Given the description of an element on the screen output the (x, y) to click on. 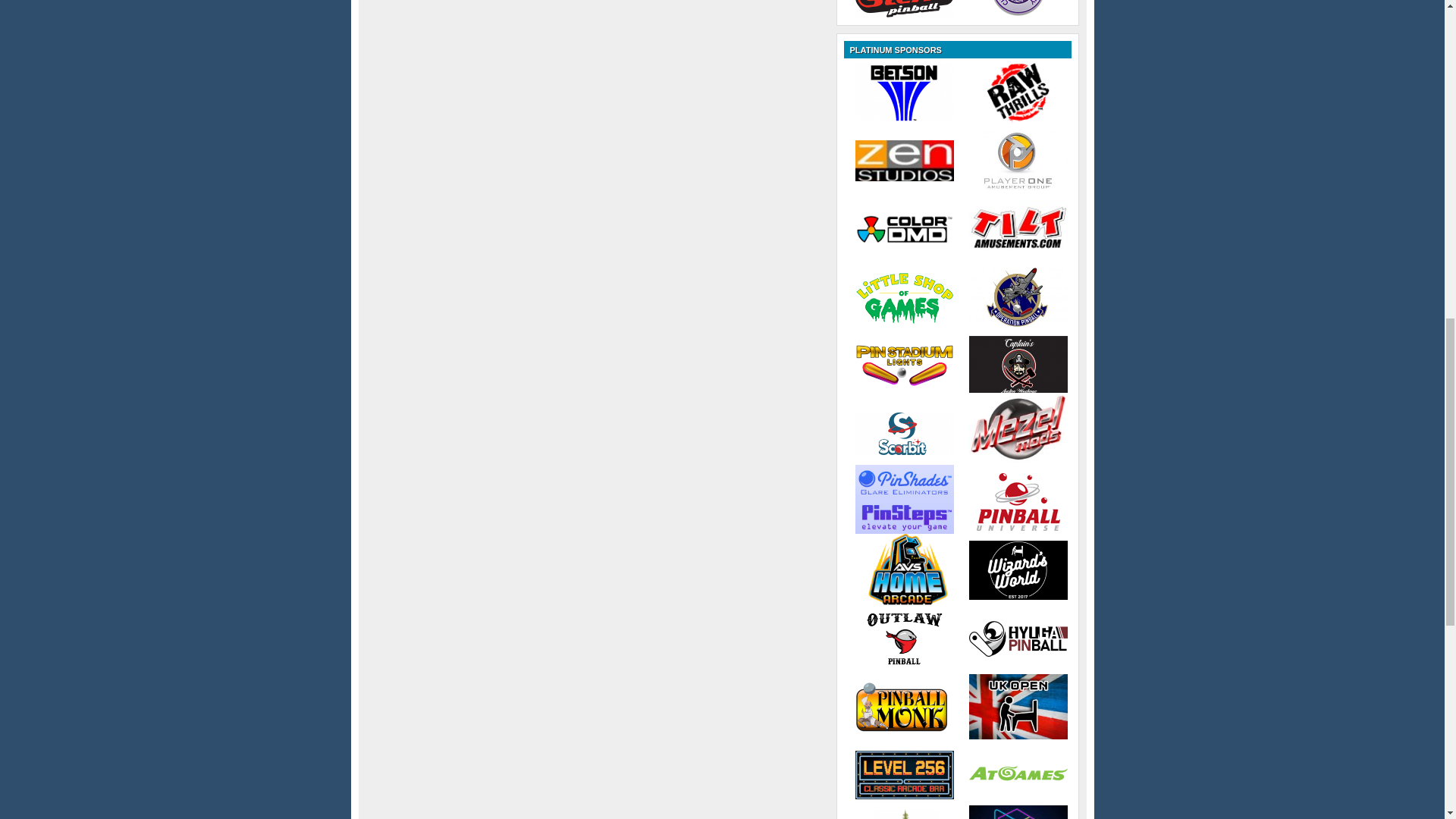
Color DMD (904, 228)
Stern (904, 9)
Player One Amusement Group (1018, 160)
Little Shop of Games (904, 296)
Zen Studios (904, 160)
Raw Thrills (1018, 92)
Tilt Amusements (1018, 228)
Betson (904, 92)
